Given the description of an element on the screen output the (x, y) to click on. 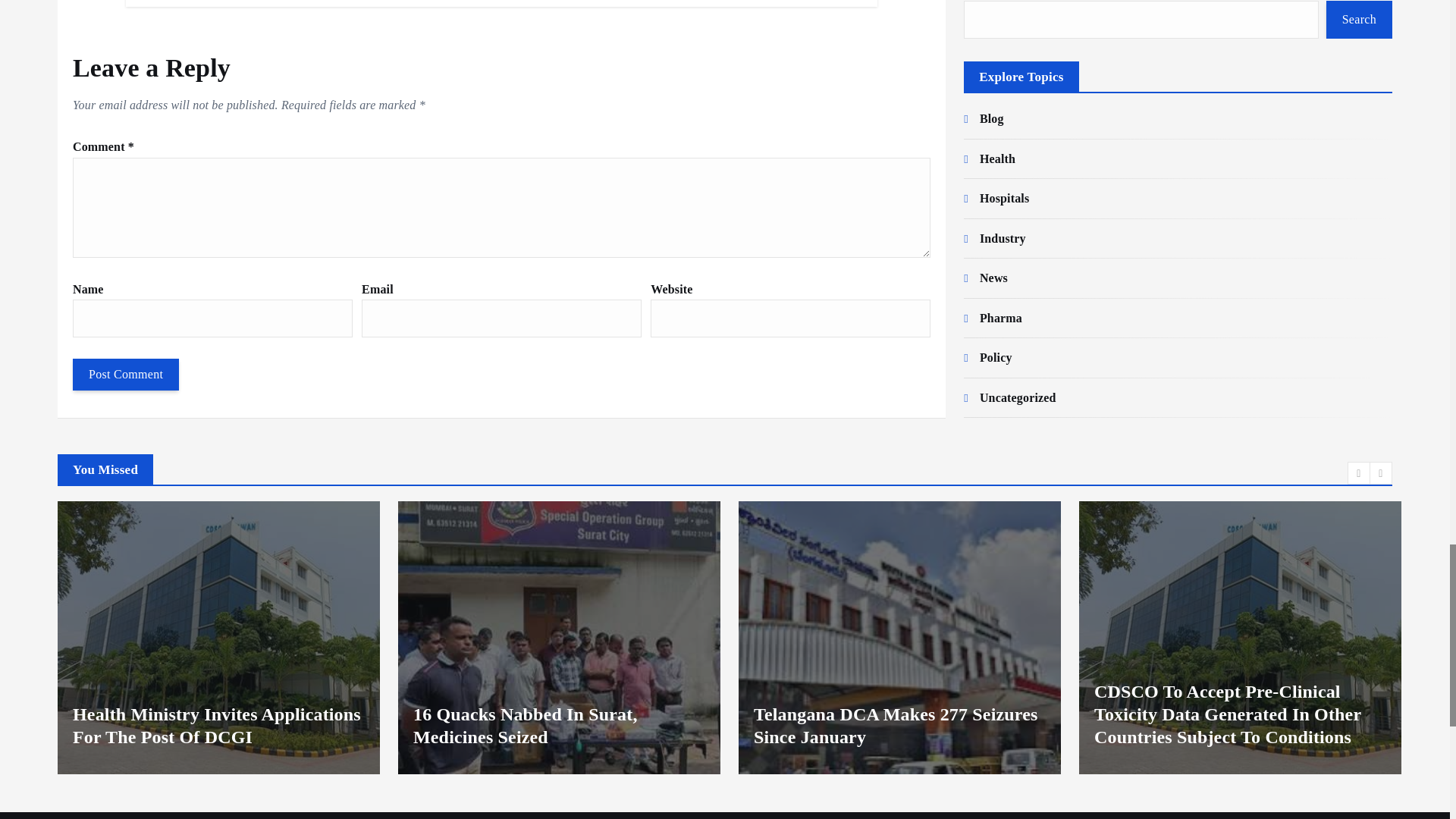
Post Comment (125, 374)
